Given the description of an element on the screen output the (x, y) to click on. 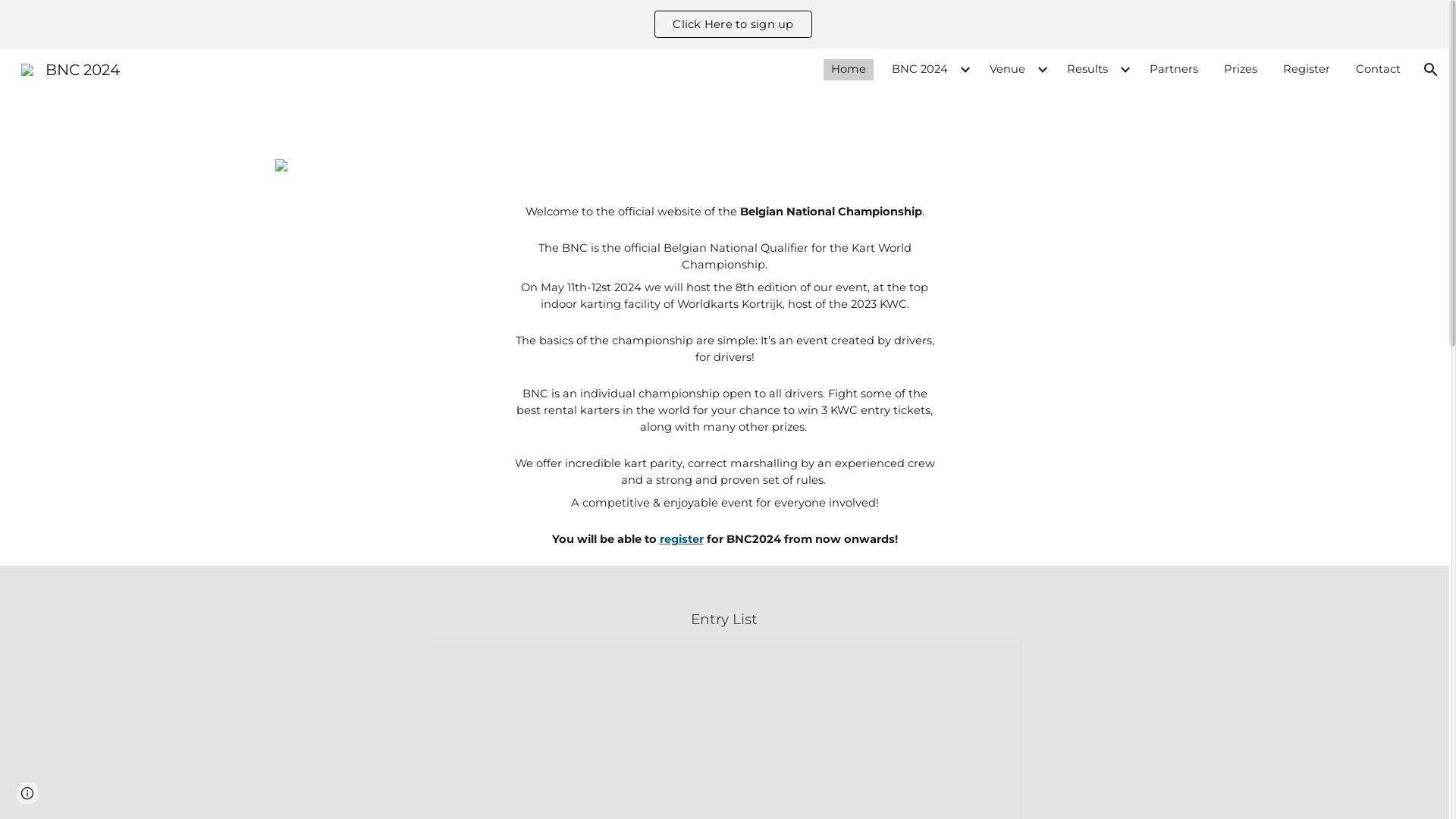
Venue Element type: text (1007, 69)
register Element type: text (681, 539)
Expand/Collapse Element type: hover (1124, 69)
Register Element type: text (1306, 69)
BNC 2024 Element type: text (919, 69)
Home Element type: text (848, 69)
Results Element type: text (1087, 69)
Expand/Collapse Element type: hover (1041, 69)
BNC 2024 Element type: text (70, 68)
Partners Element type: text (1173, 69)
Expand/Collapse Element type: hover (964, 69)
Prizes Element type: text (1240, 69)
Click Here to sign up Element type: text (732, 24)
Contact Element type: text (1378, 69)
